Given the description of an element on the screen output the (x, y) to click on. 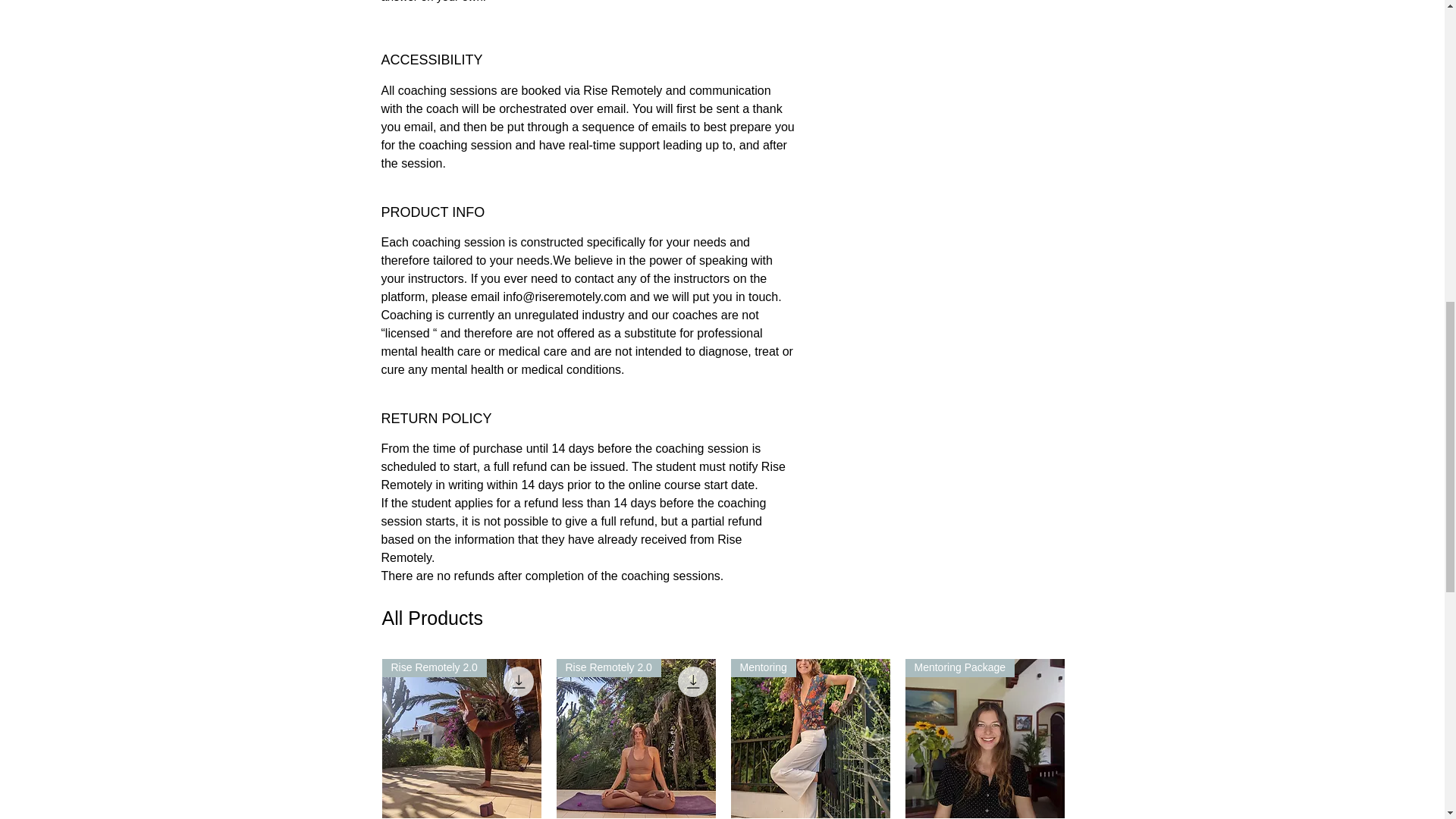
Rise Remotely 2.0 (461, 738)
Mentoring (809, 738)
Mentoring Package (984, 738)
Rise Remotely 2.0 (636, 738)
